Given the description of an element on the screen output the (x, y) to click on. 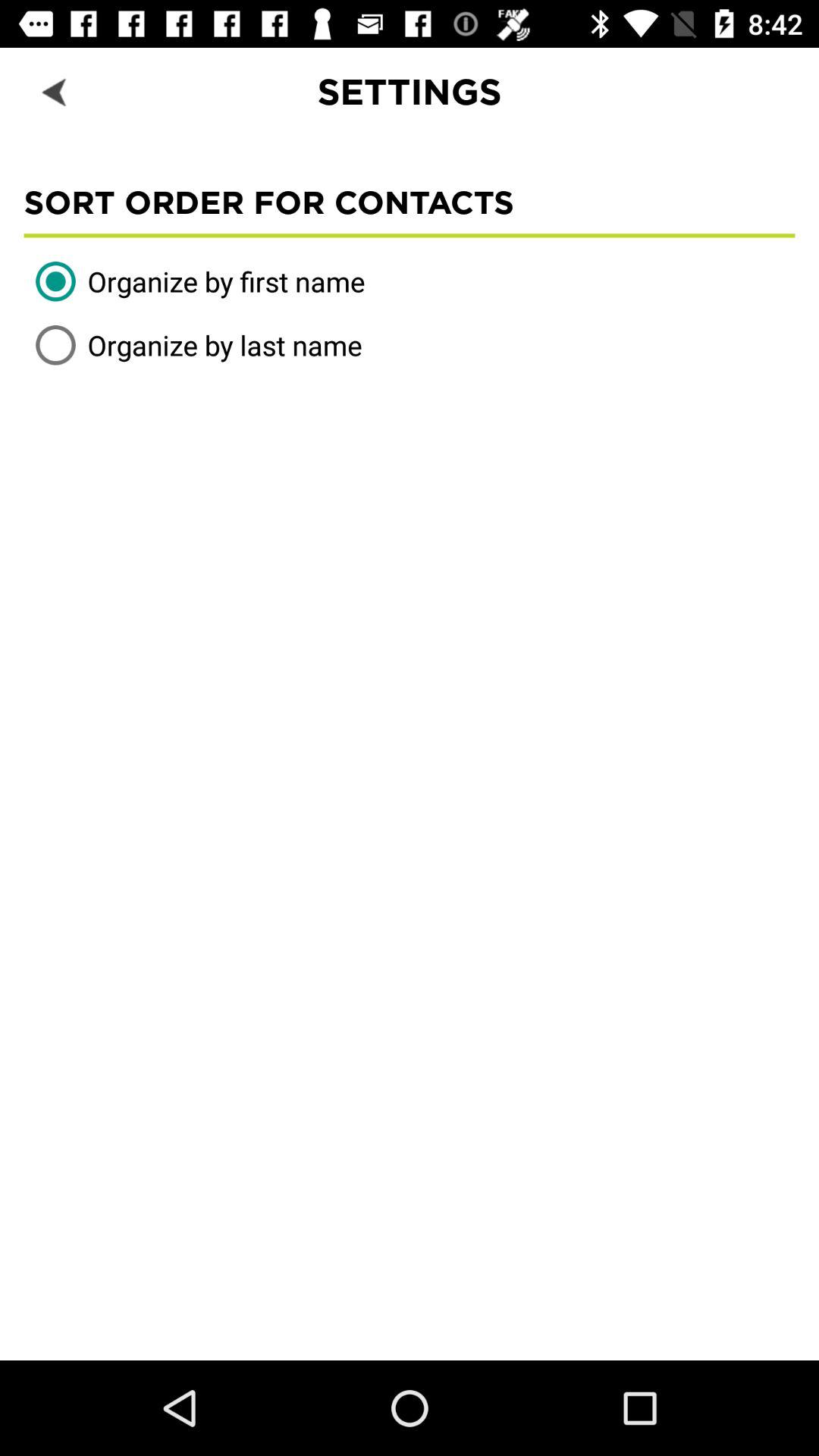
go to back (55, 91)
